Given the description of an element on the screen output the (x, y) to click on. 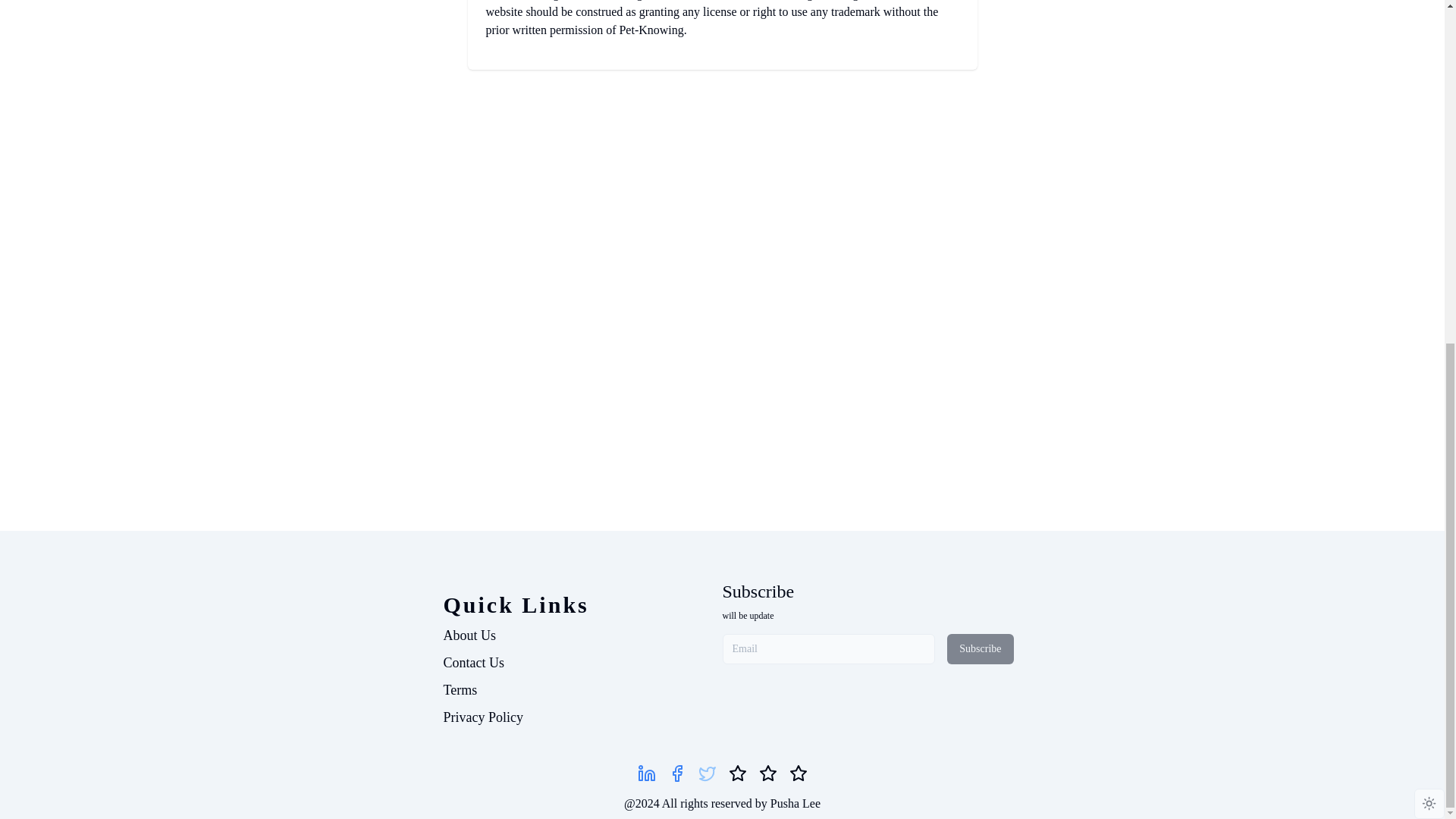
Subscribe (757, 591)
Terms (459, 689)
Privacy Policy (482, 717)
Subscribe (980, 648)
Contact Us (472, 662)
About Us (469, 635)
